Given the description of an element on the screen output the (x, y) to click on. 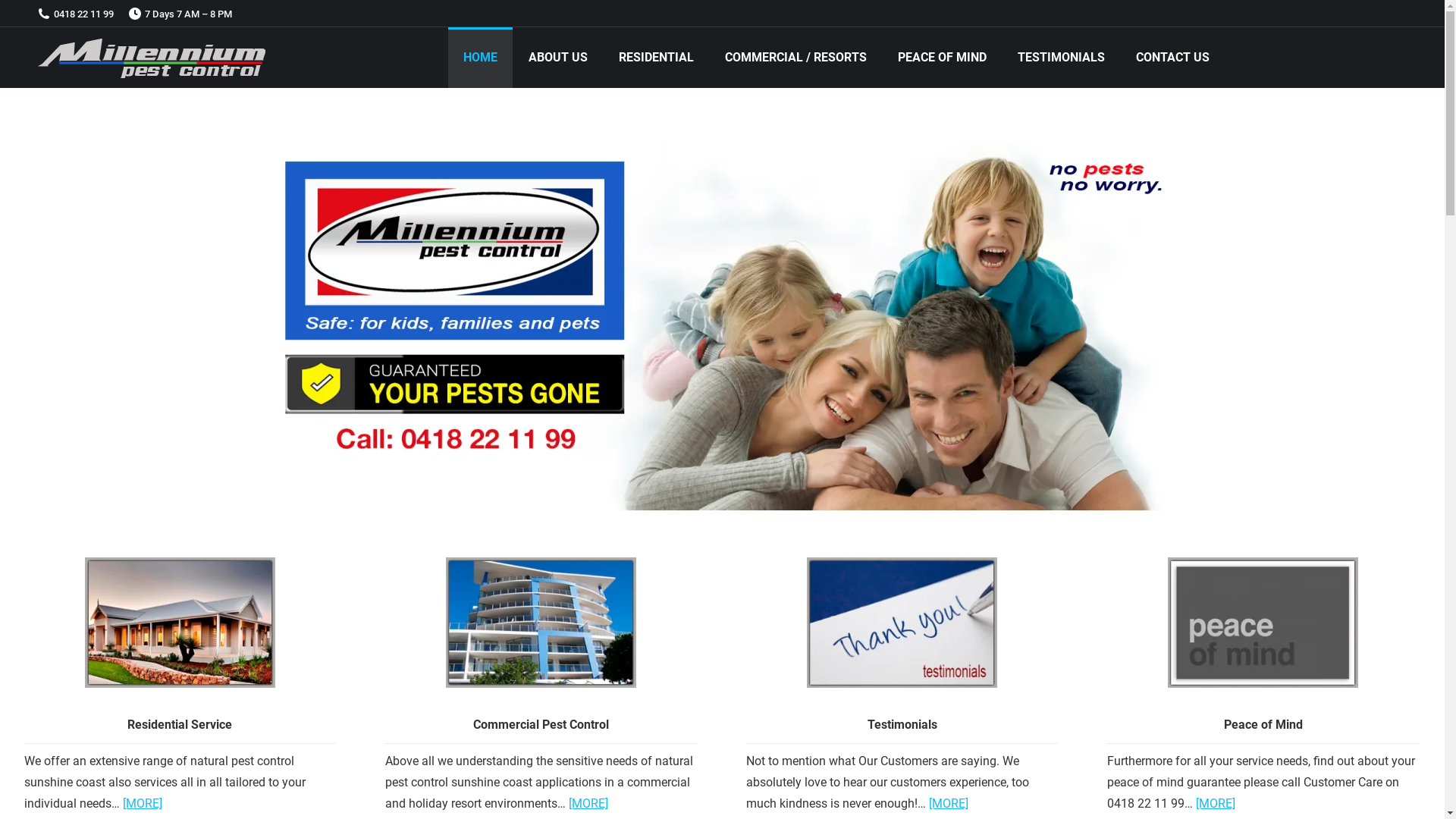
Millennium Pest Control Sunshine Coast - Peace of Mind Element type: hover (1262, 621)
[MORE] Element type: text (948, 803)
CONTACT US Element type: text (1172, 57)
COMMERCIAL / RESORTS Element type: text (795, 57)
HOME Element type: text (479, 57)
ABOUT US Element type: text (557, 57)
[MORE] Element type: text (1215, 803)
TESTIMONIALS Element type: text (1061, 57)
[MORE] Element type: text (142, 803)
[MORE] Element type: text (588, 803)
Millennium Pest Control Sunshine Coast - testimonials Element type: hover (901, 621)
RESIDENTIAL Element type: text (656, 57)
PEACE OF MIND Element type: text (941, 57)
